Given the description of an element on the screen output the (x, y) to click on. 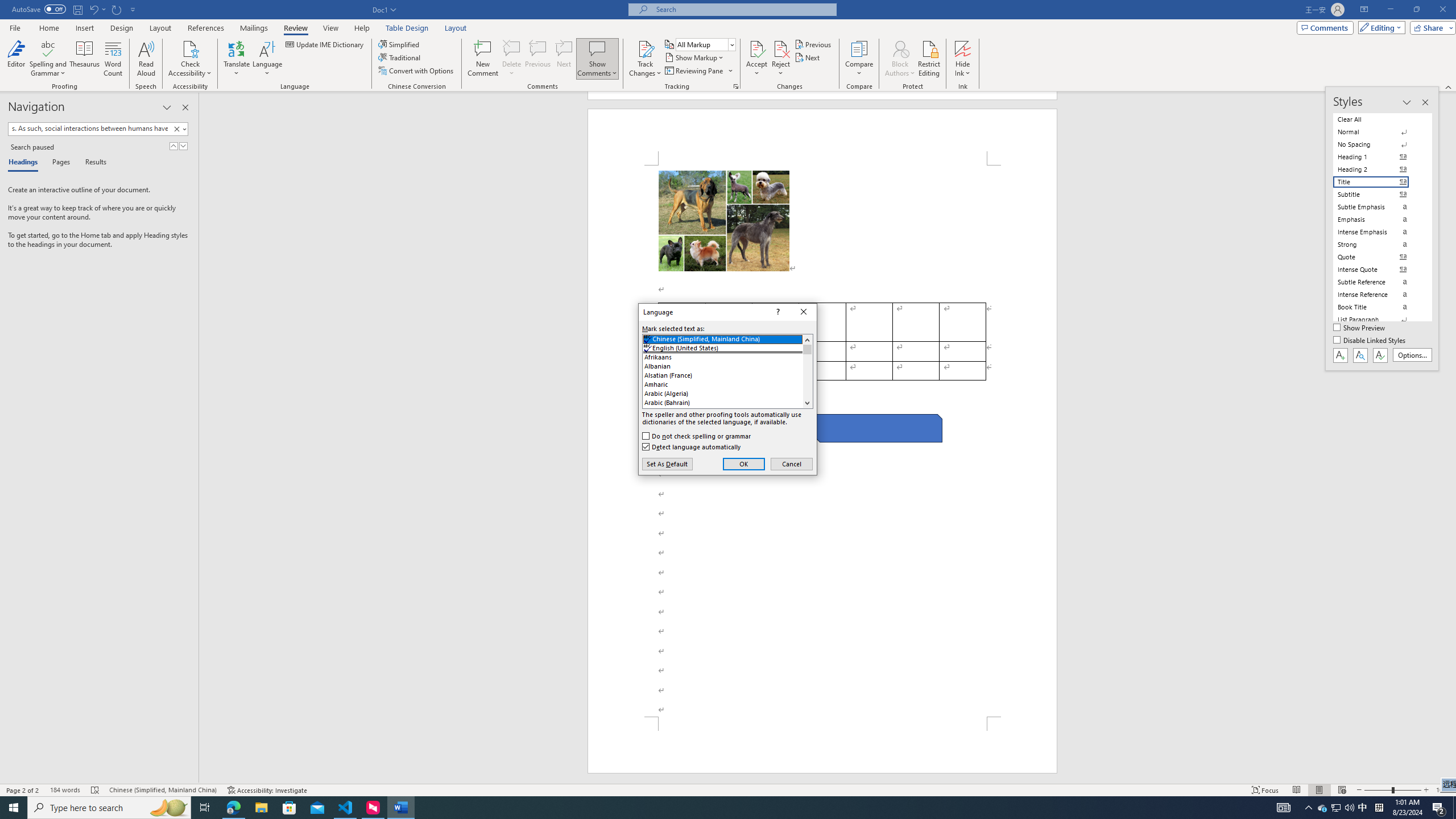
Read Aloud (145, 58)
No Spacing (1377, 144)
Repeat Style (117, 9)
Check Accessibility (189, 48)
Block Authors (900, 58)
Running applications (700, 807)
